Given the description of an element on the screen output the (x, y) to click on. 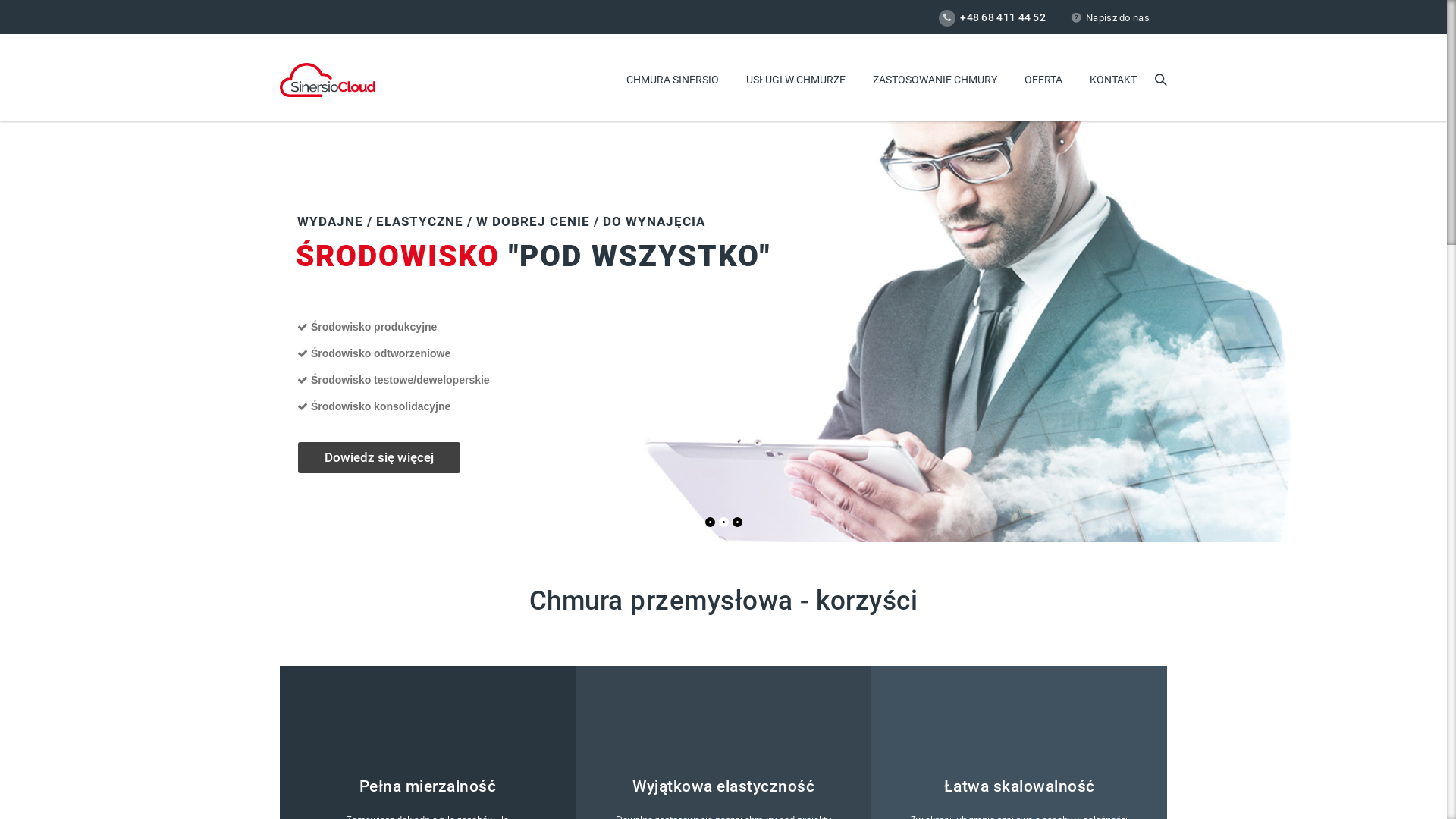
KONTAKT Element type: text (1113, 79)
OFERTA Element type: text (1043, 79)
ZASTOSOWANIE CHMURY Element type: text (934, 79)
CHMURA SINERSIO Element type: text (672, 79)
Napisz do nas Element type: text (1109, 17)
